Given the description of an element on the screen output the (x, y) to click on. 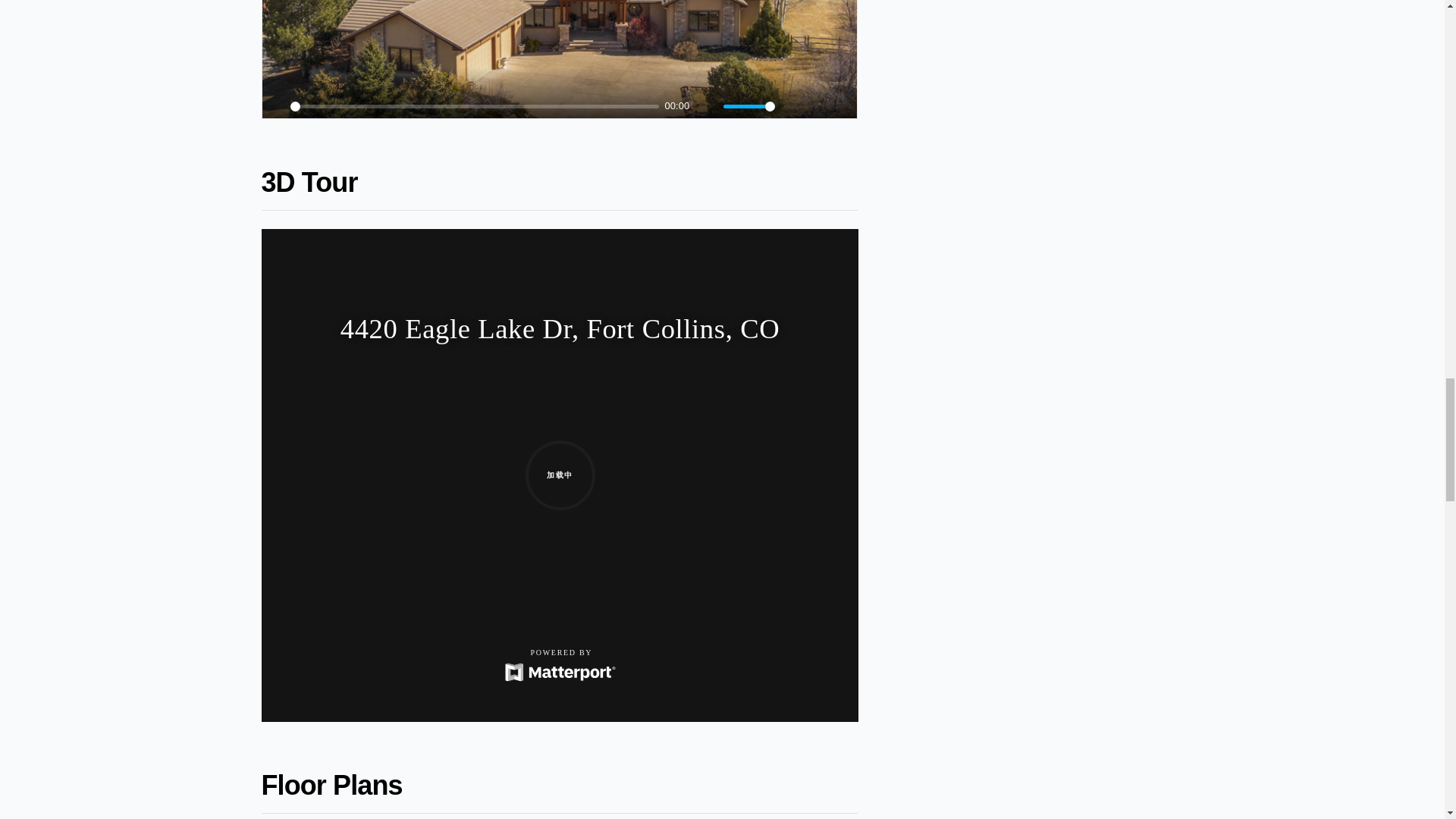
1 (748, 106)
0 (474, 106)
